Given the description of an element on the screen output the (x, y) to click on. 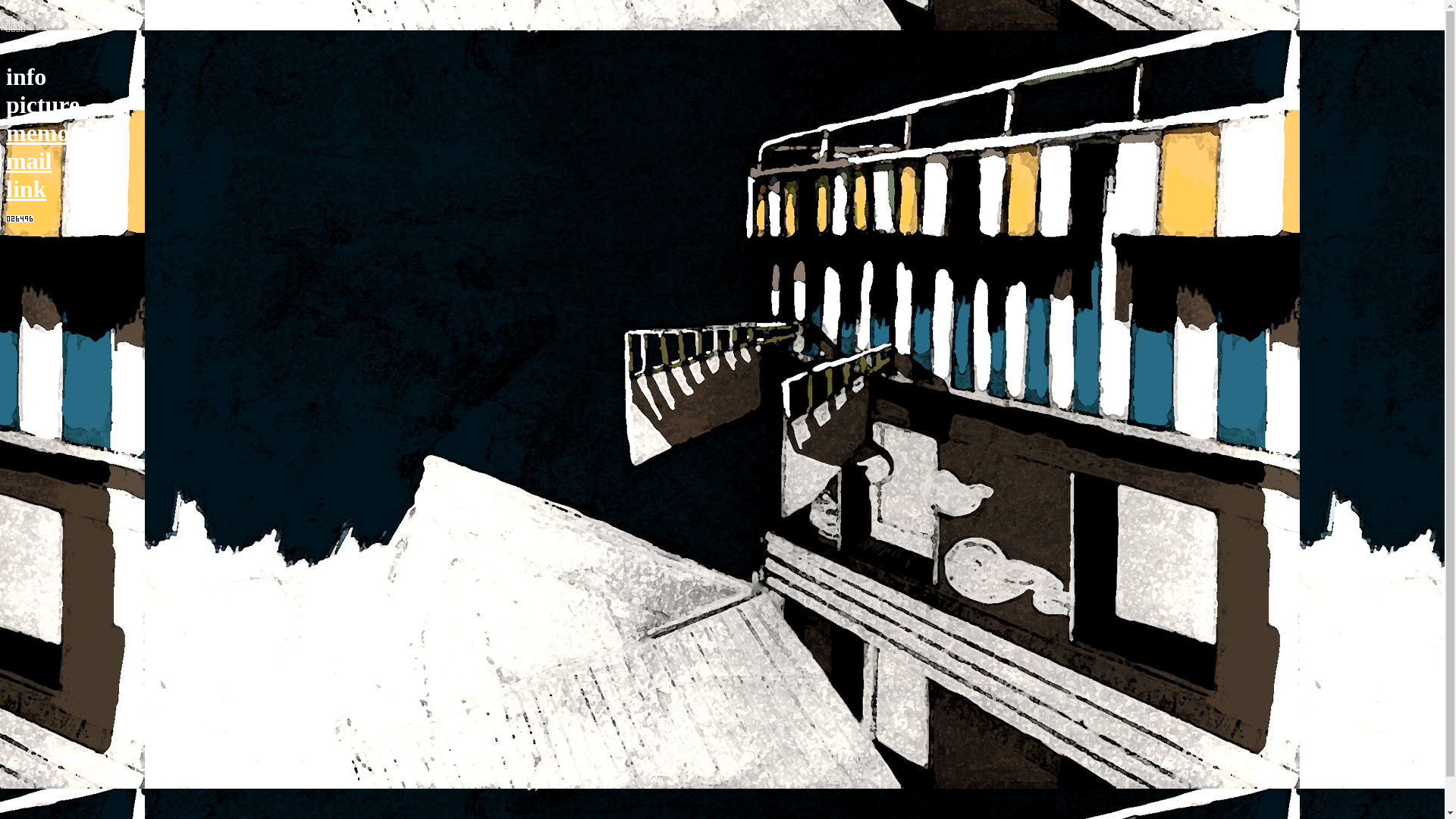
link Element type: text (26, 188)
mail Element type: text (28, 160)
memo Element type: text (37, 132)
